Given the description of an element on the screen output the (x, y) to click on. 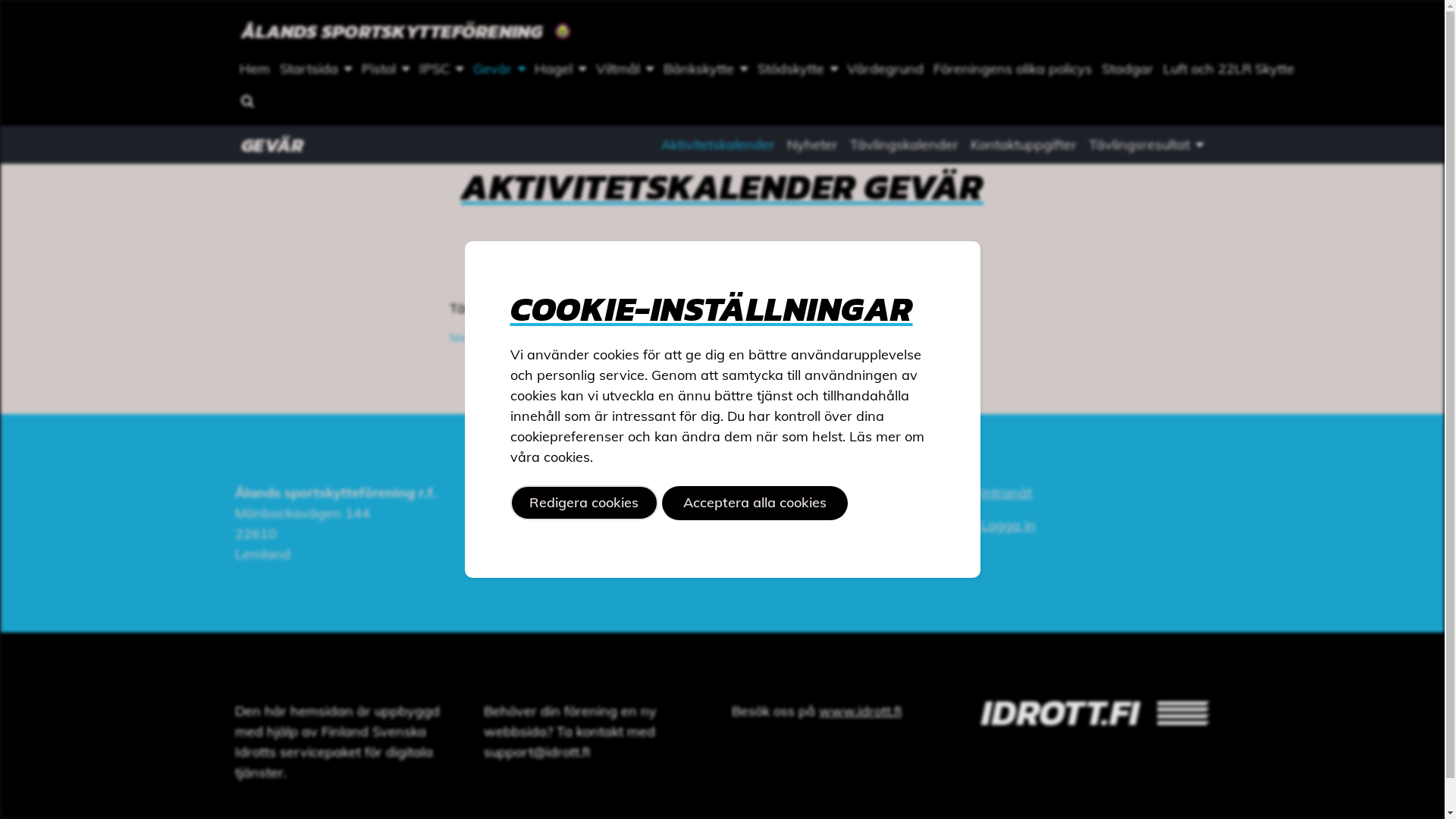
www.idrott.fi Element type: text (860, 710)
info@sportskytte.ax Element type: text (593, 492)
Stadgar Element type: text (1127, 68)
Luft och 22LR Skytte Element type: text (1228, 68)
Hagel Element type: text (560, 68)
tavlingskalender-2020-2021-1 Element type: text (527, 337)
Aktivitetskalender Element type: text (718, 144)
Ladda ner Element type: text (652, 337)
Pistol Element type: text (385, 68)
Kontaktuppgifter Element type: text (1023, 144)
Logga in Element type: text (1007, 524)
Hem Element type: text (255, 68)
Startsida Element type: text (316, 68)
IPSC Element type: text (440, 68)
Acceptera alla cookies Element type: text (754, 503)
Nyheter Element type: text (812, 144)
